Given the description of an element on the screen output the (x, y) to click on. 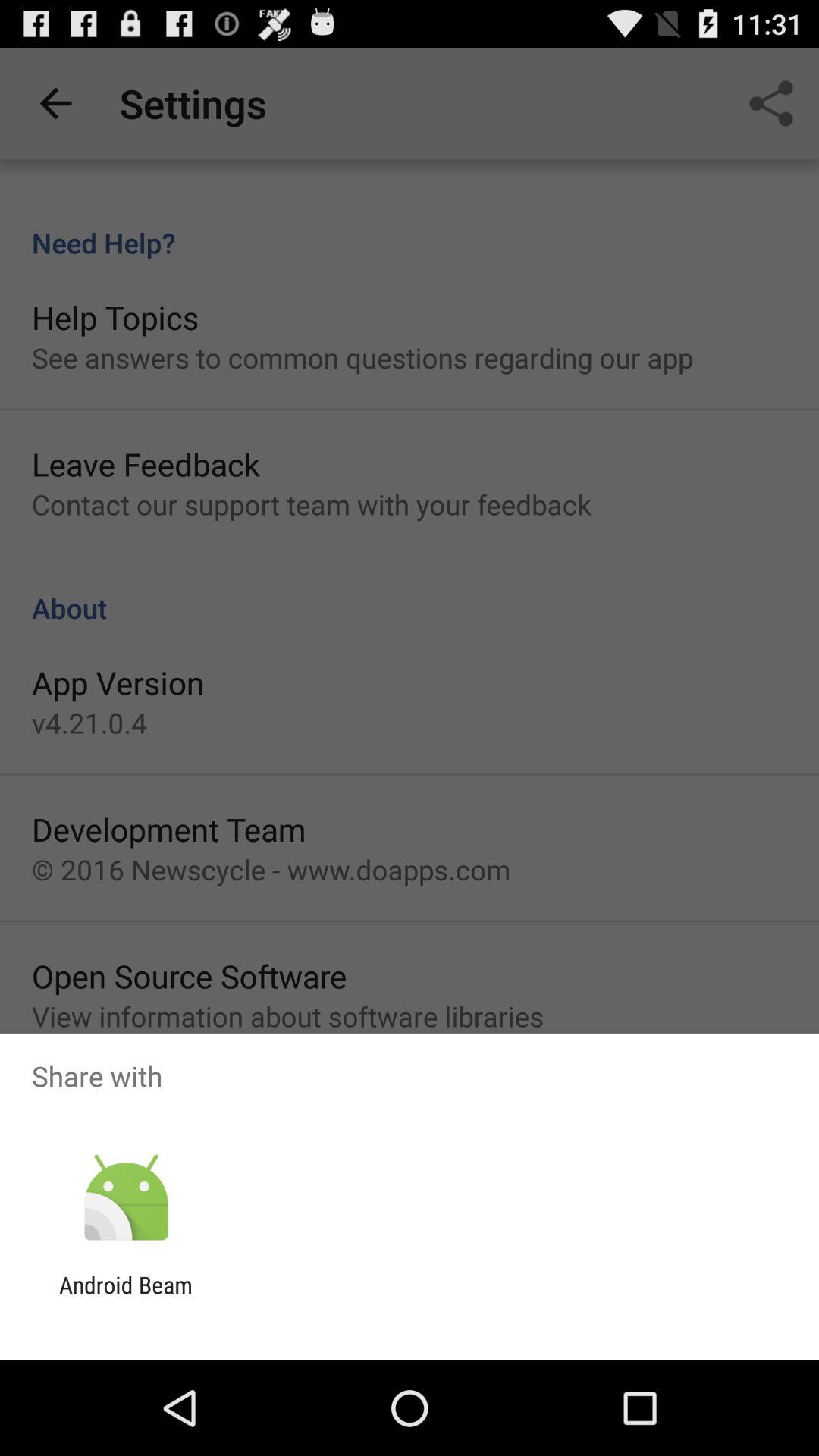
choose the app below the share with icon (126, 1198)
